Given the description of an element on the screen output the (x, y) to click on. 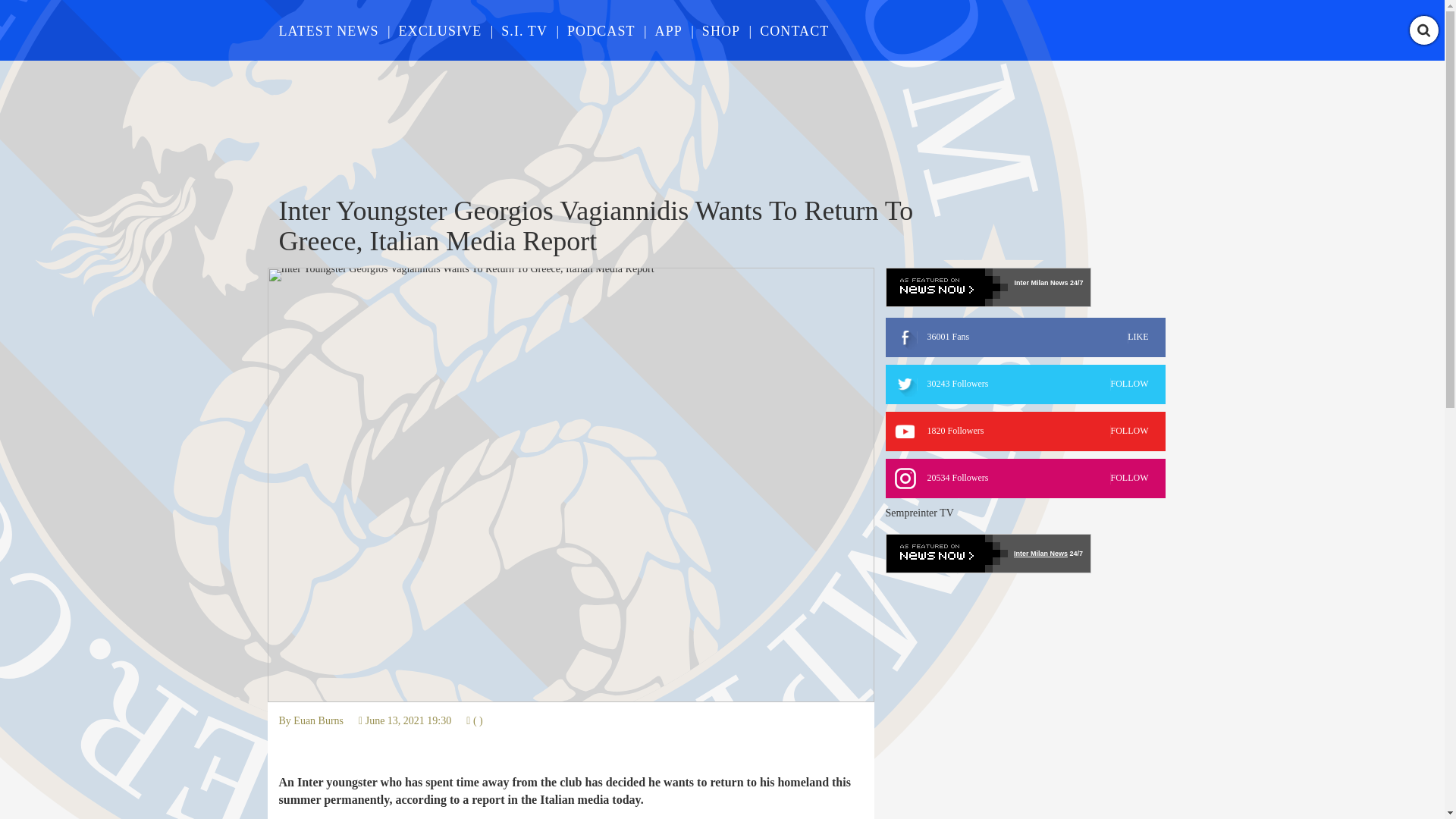
APP (1025, 431)
Euan Burns (668, 30)
EXCLUSIVE (1025, 384)
CONTACT (318, 720)
PODCAST (439, 30)
View more articles by Euan Burns (794, 30)
S.I. TV (600, 30)
LATEST NEWS (318, 720)
Click here for more Inter Milan News from NewsNow (523, 30)
Inter Milan News (328, 30)
Inter Milan News (1025, 337)
